Given the description of an element on the screen output the (x, y) to click on. 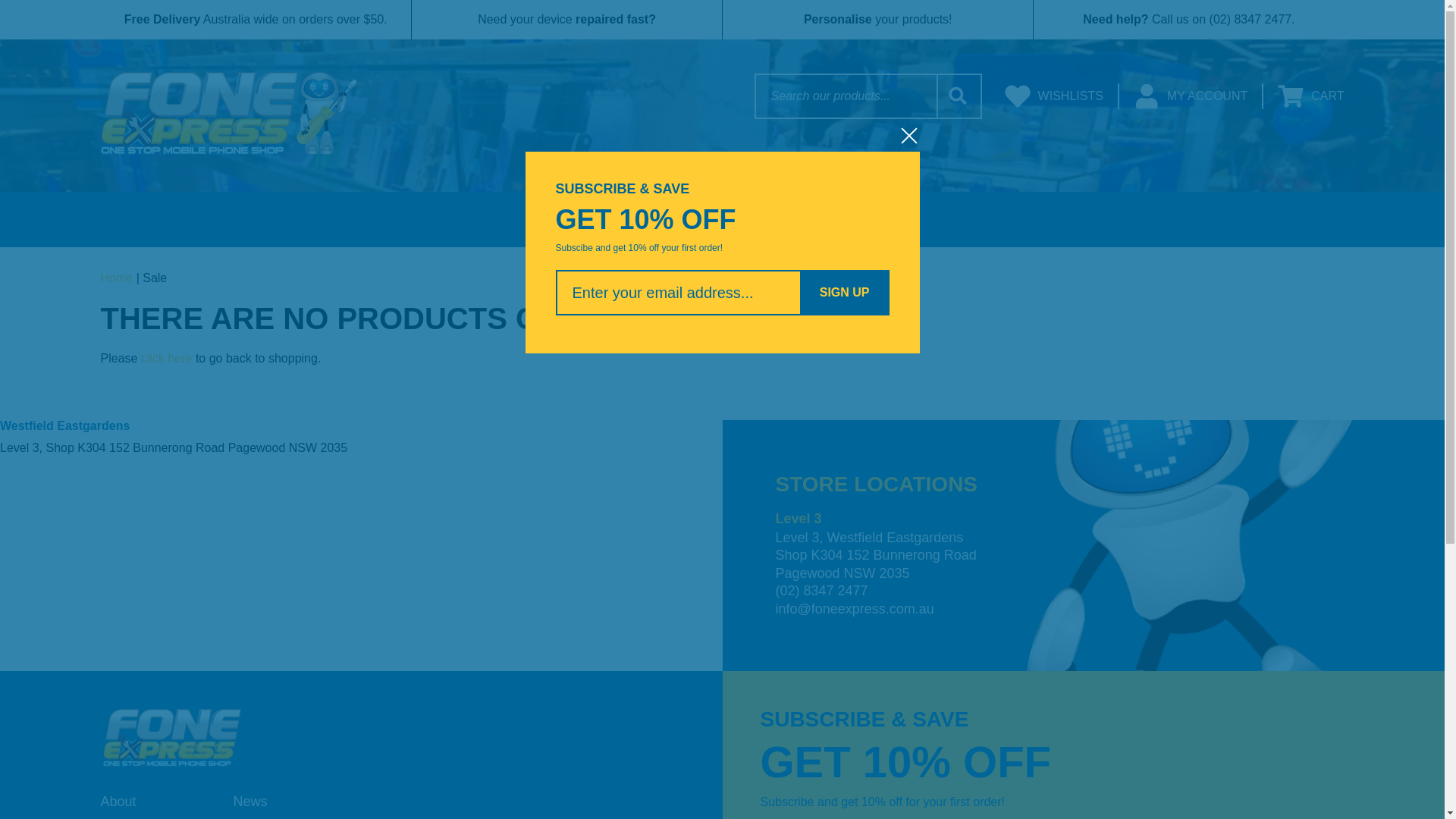
About Element type: text (117, 801)
Search Element type: text (959, 96)
Need help? Call us on (02) 8347 2477. Element type: text (1187, 19)
CART Element type: text (1310, 96)
Personalise your products! Element type: text (876, 19)
click here Element type: text (166, 357)
News Element type: text (250, 801)
MY ACCOUNT Element type: text (1190, 96)
info@foneexpress.com.au Element type: text (854, 608)
Sign up Element type: text (844, 292)
WISHLISTS Element type: text (1053, 96)
Need your device repaired fast? Element type: text (566, 19)
(02) 8347 2477 Element type: text (821, 590)
Home Element type: text (116, 277)
Free Delivery Australia wide on orders over $50. Element type: text (255, 19)
